Given the description of an element on the screen output the (x, y) to click on. 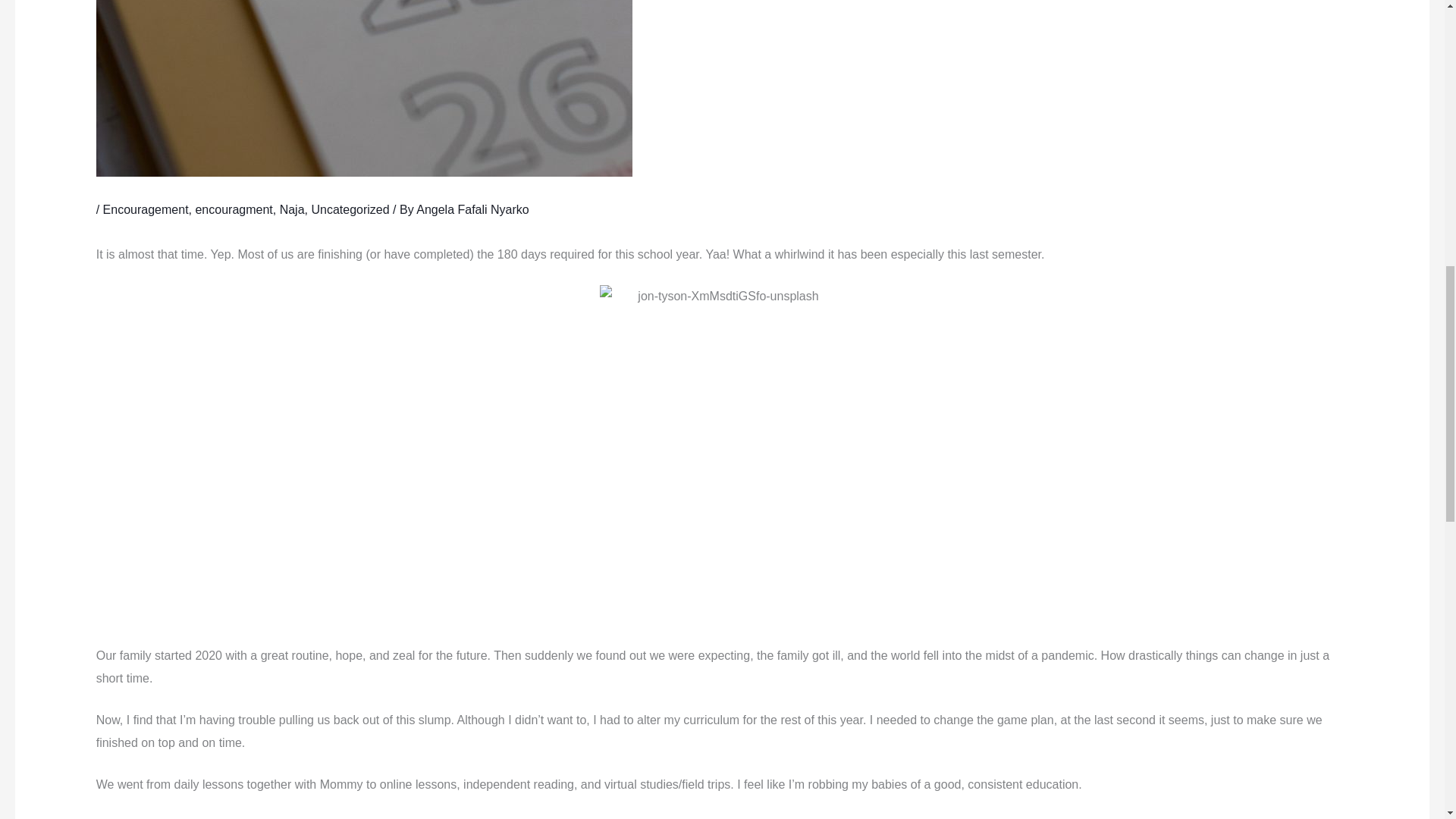
Uncategorized (349, 209)
encouragment (233, 209)
Angela Fafali Nyarko (472, 209)
View all posts by Angela Fafali Nyarko (472, 209)
Encouragement (146, 209)
Naja (291, 209)
